Given the description of an element on the screen output the (x, y) to click on. 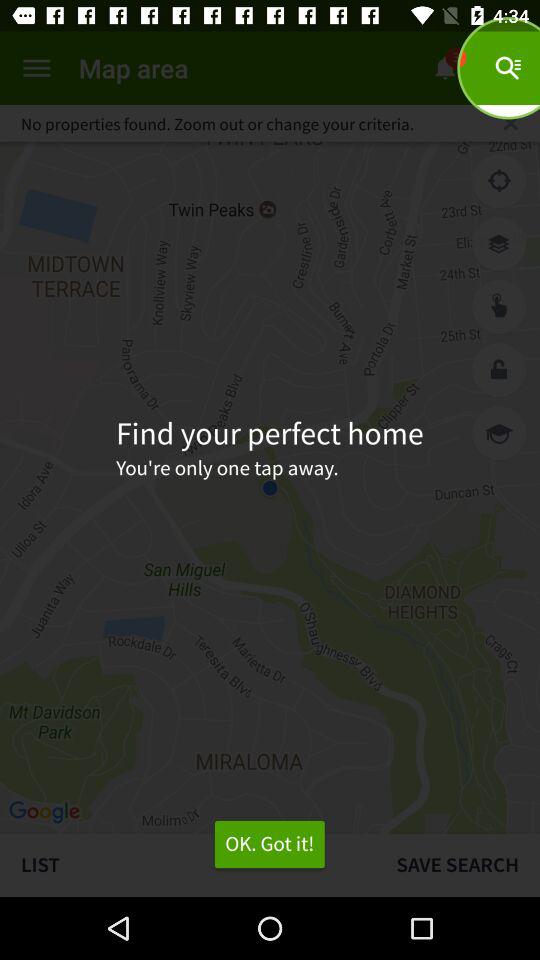
unlock zoom (499, 370)
